Given the description of an element on the screen output the (x, y) to click on. 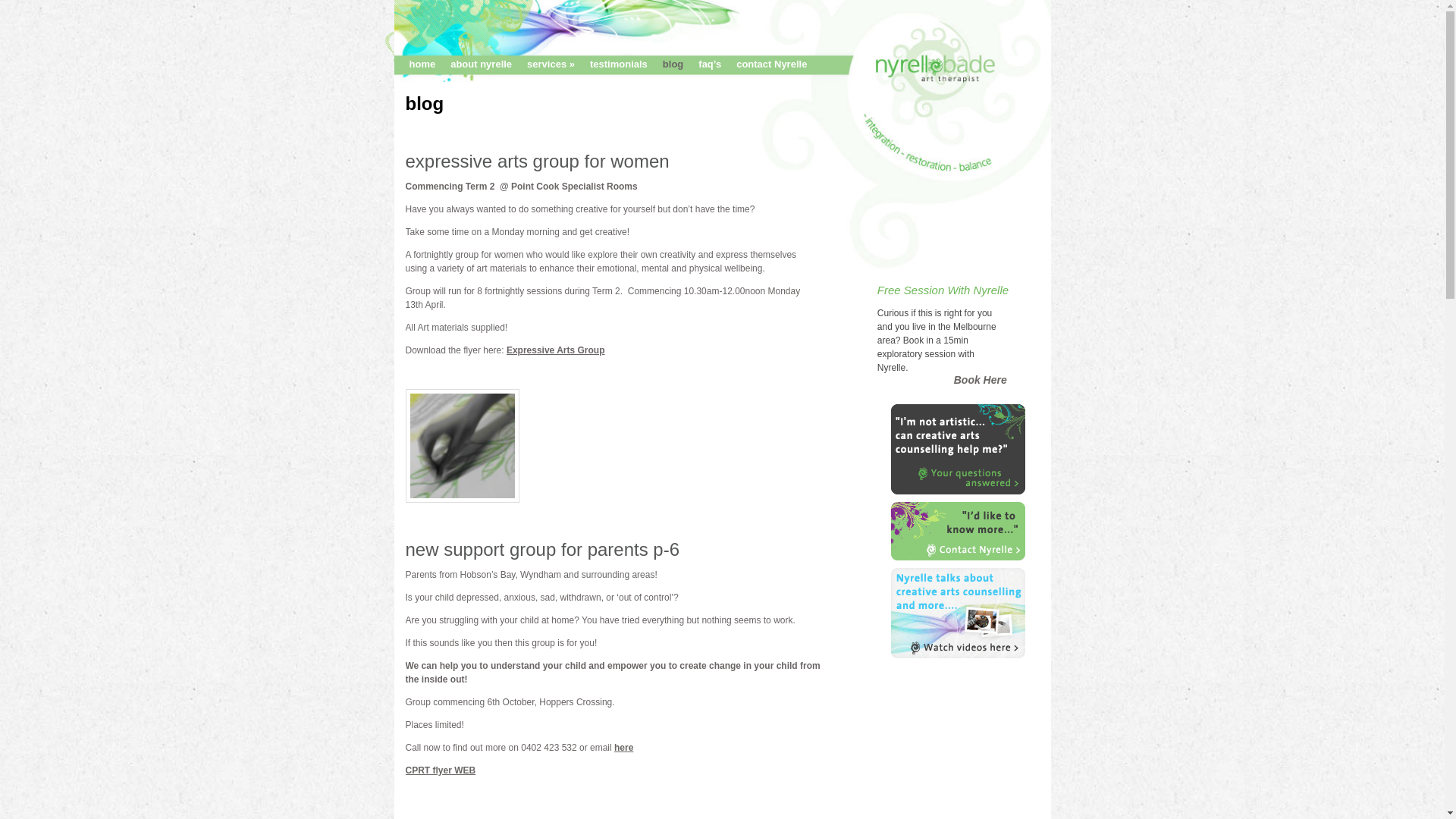
contact Nyrelle Element type: text (763, 64)
Expressive Arts Group Element type: text (555, 350)
new support group for parents p-6 Element type: text (541, 549)
expressive arts group for women Element type: text (536, 160)
Book Here Element type: text (980, 379)
here Element type: text (623, 747)
blog Element type: text (665, 64)
about nyrelle Element type: text (473, 64)
CPRT flyer WEB Element type: text (439, 770)
testimonials Element type: text (610, 64)
home Element type: text (415, 64)
